Given the description of an element on the screen output the (x, y) to click on. 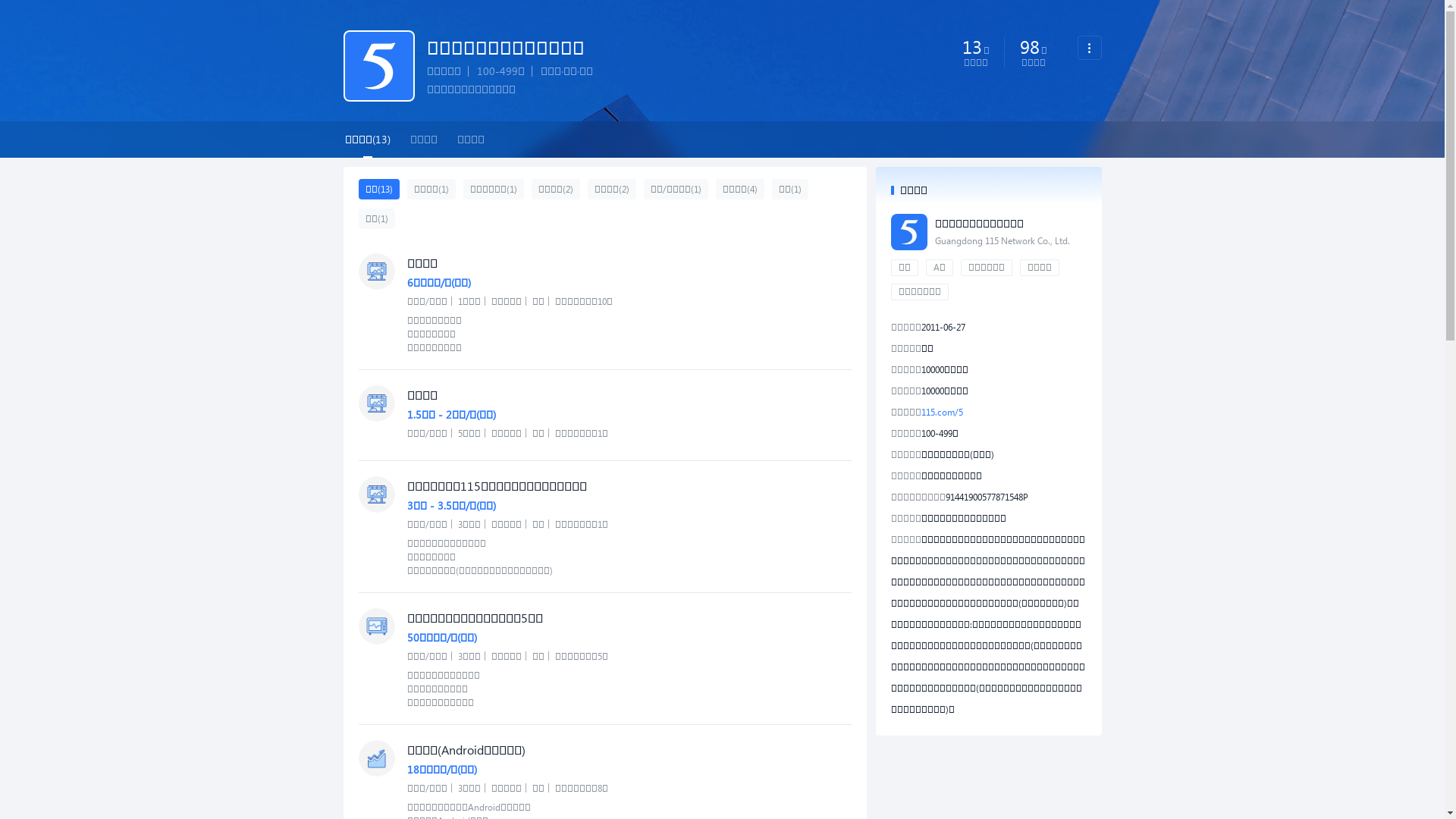
115.com/5 Element type: text (941, 411)
